Given the description of an element on the screen output the (x, y) to click on. 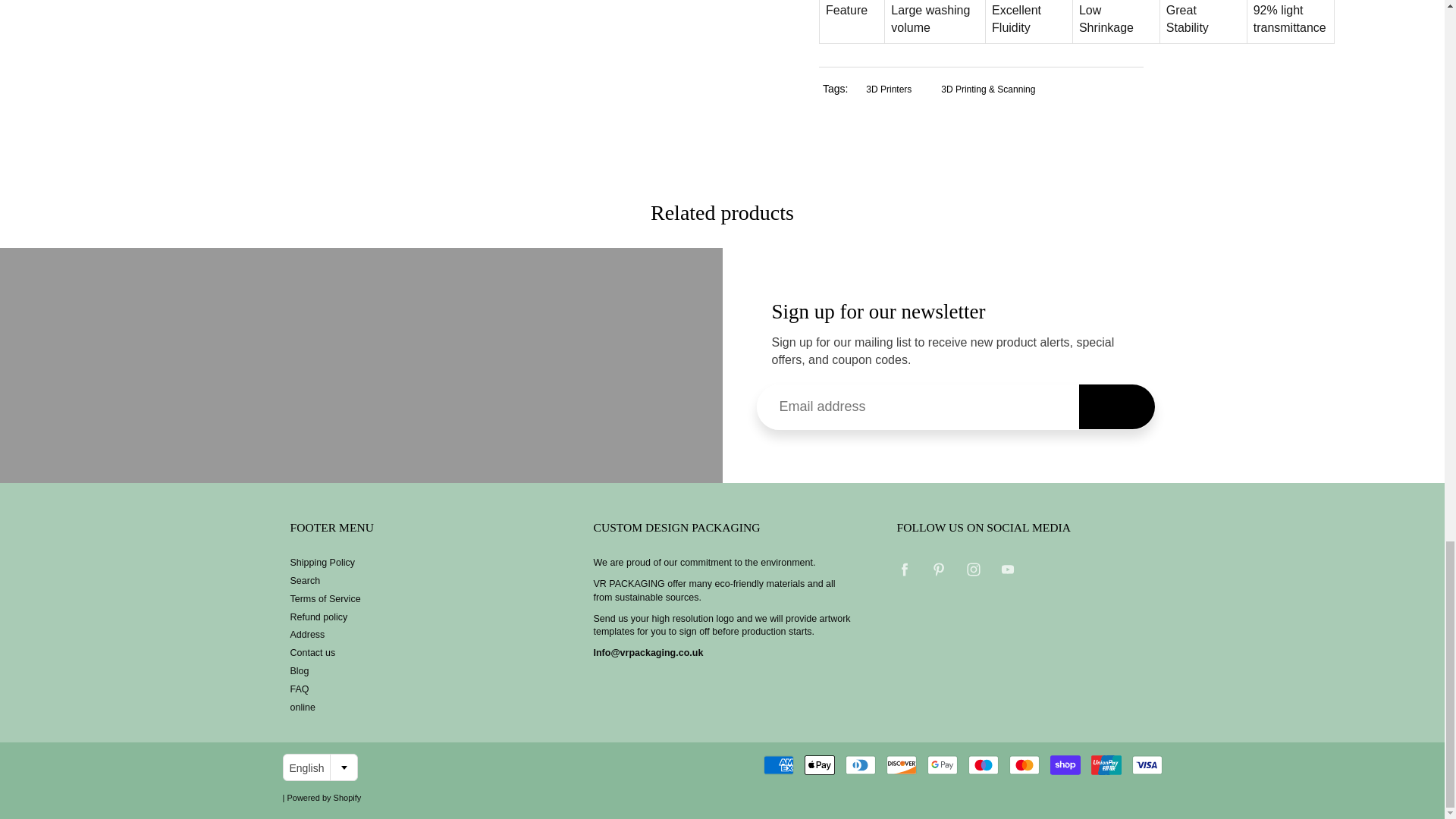
American Express (777, 764)
Shop Pay (1064, 764)
Discover (901, 764)
Mastercard (1024, 764)
Maestro (983, 764)
Diners Club (860, 764)
Apple Pay (819, 764)
Visa (1146, 764)
Union Pay (1105, 764)
Google Pay (942, 764)
